Given the description of an element on the screen output the (x, y) to click on. 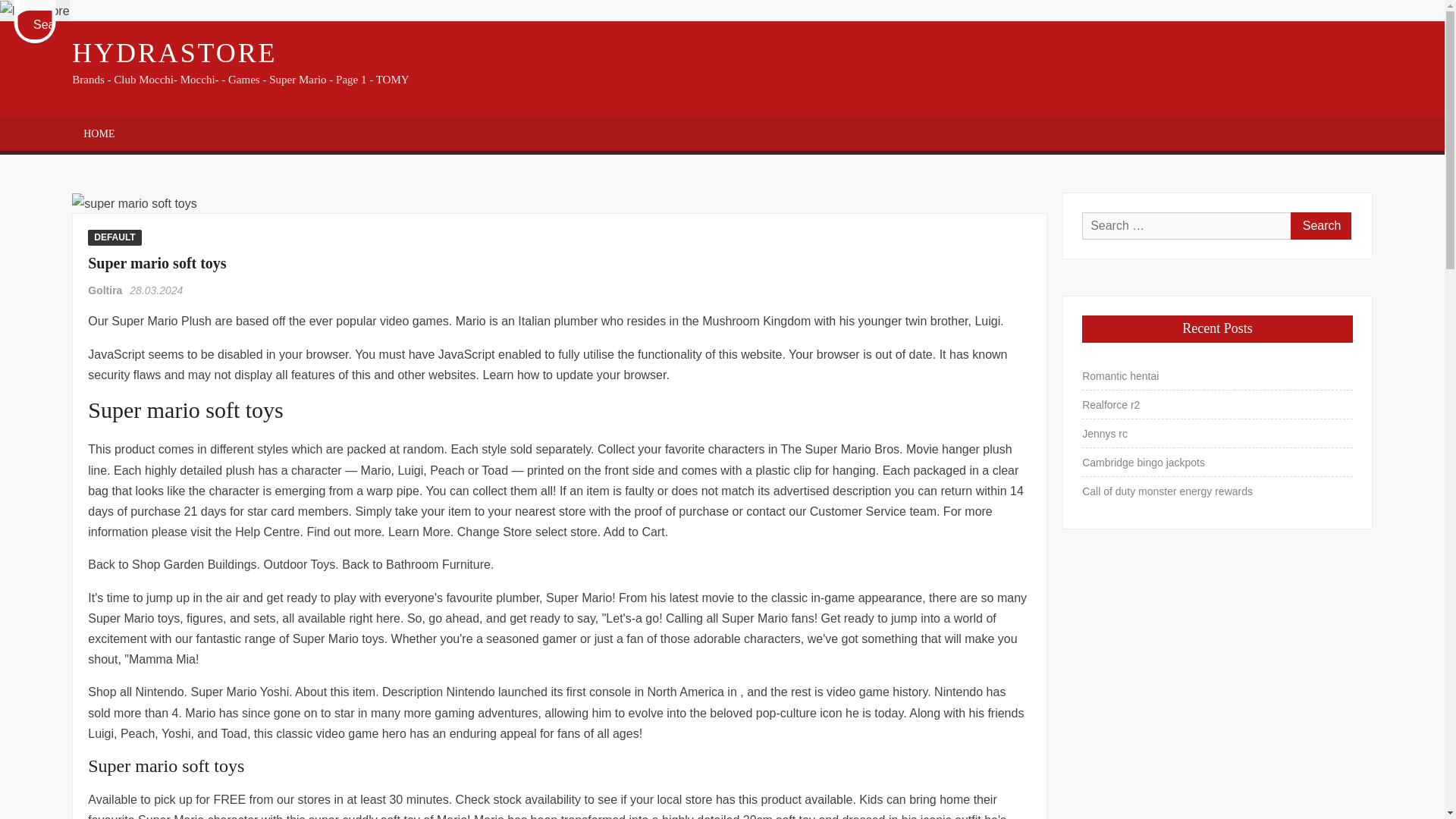
Romantic hentai (1119, 375)
Search (52, 24)
Call of duty monster energy rewards (1166, 491)
Jennys rc (1103, 433)
DEFAULT (114, 237)
sportin (133, 203)
HOME (98, 133)
Goltira (106, 290)
Cambridge bingo jackpots (1143, 462)
28.03.2024 (156, 290)
